Given the description of an element on the screen output the (x, y) to click on. 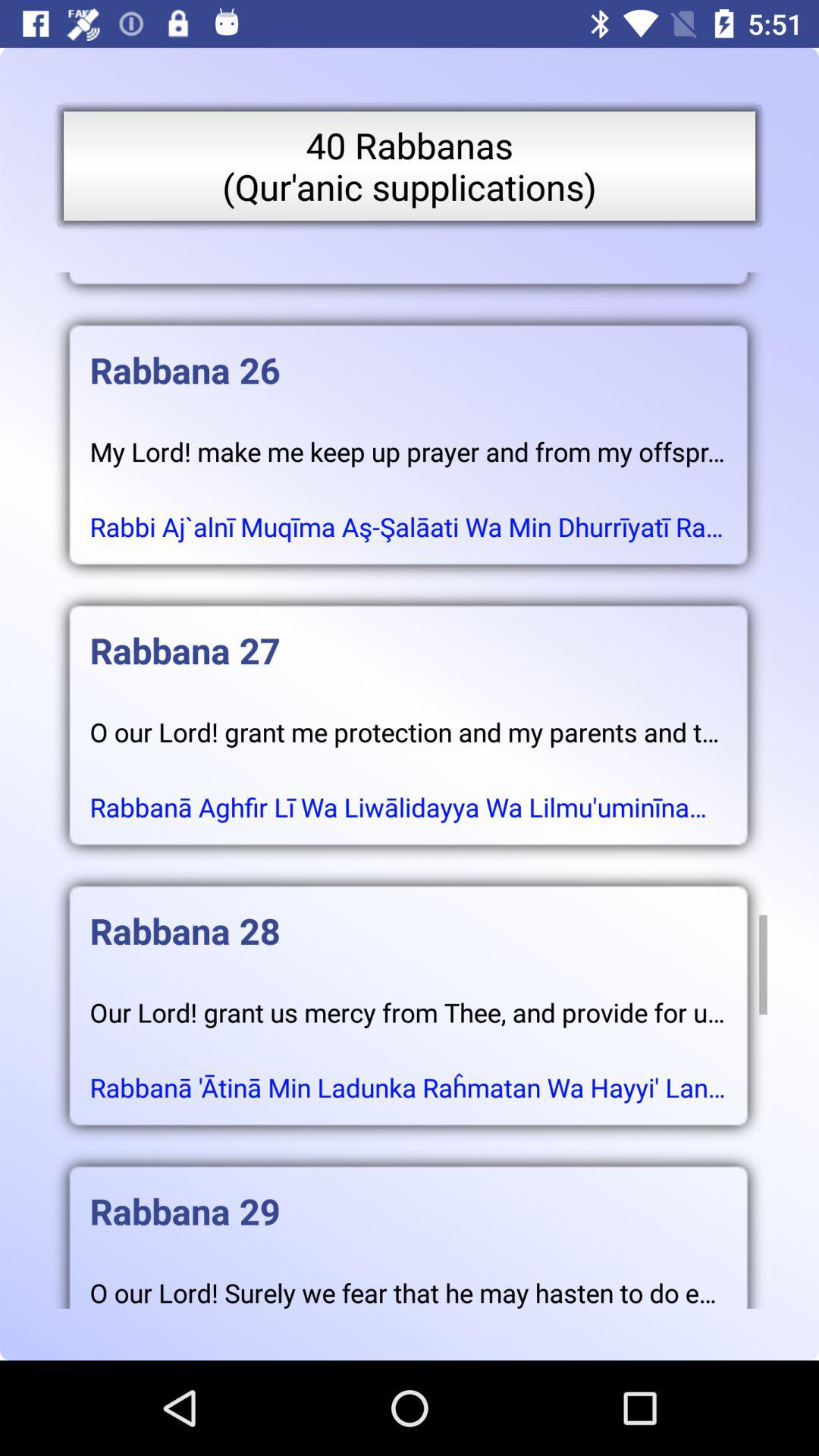
tap the item above the rabbana 27 icon (408, 511)
